Given the description of an element on the screen output the (x, y) to click on. 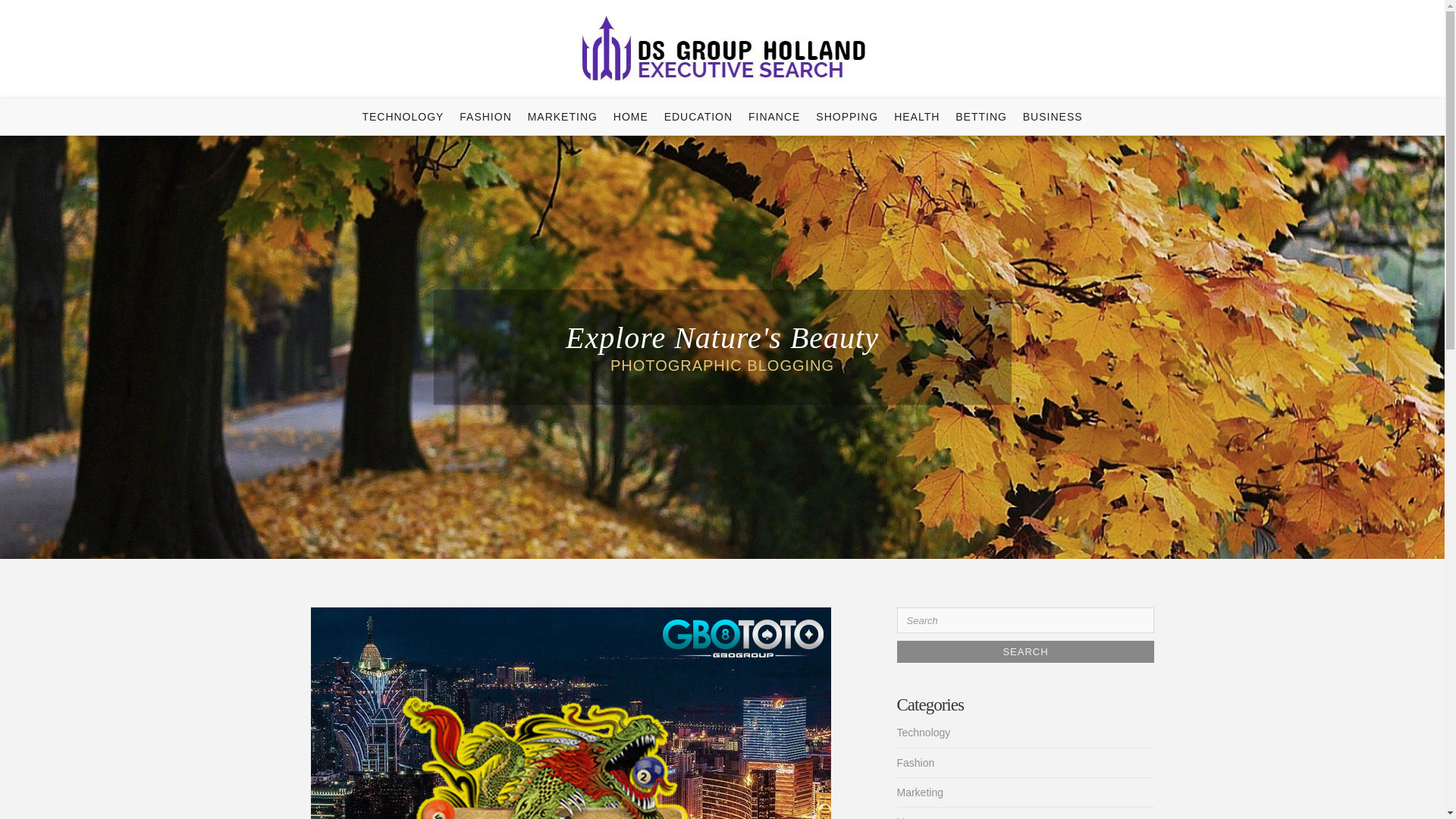
HOME (630, 116)
Search (1025, 651)
EDUCATION (698, 116)
BUSINESS (1052, 116)
Search (1025, 651)
Search (1025, 651)
Home (910, 817)
FASHION (484, 116)
Marketing (919, 792)
Fashion (915, 762)
